Given the description of an element on the screen output the (x, y) to click on. 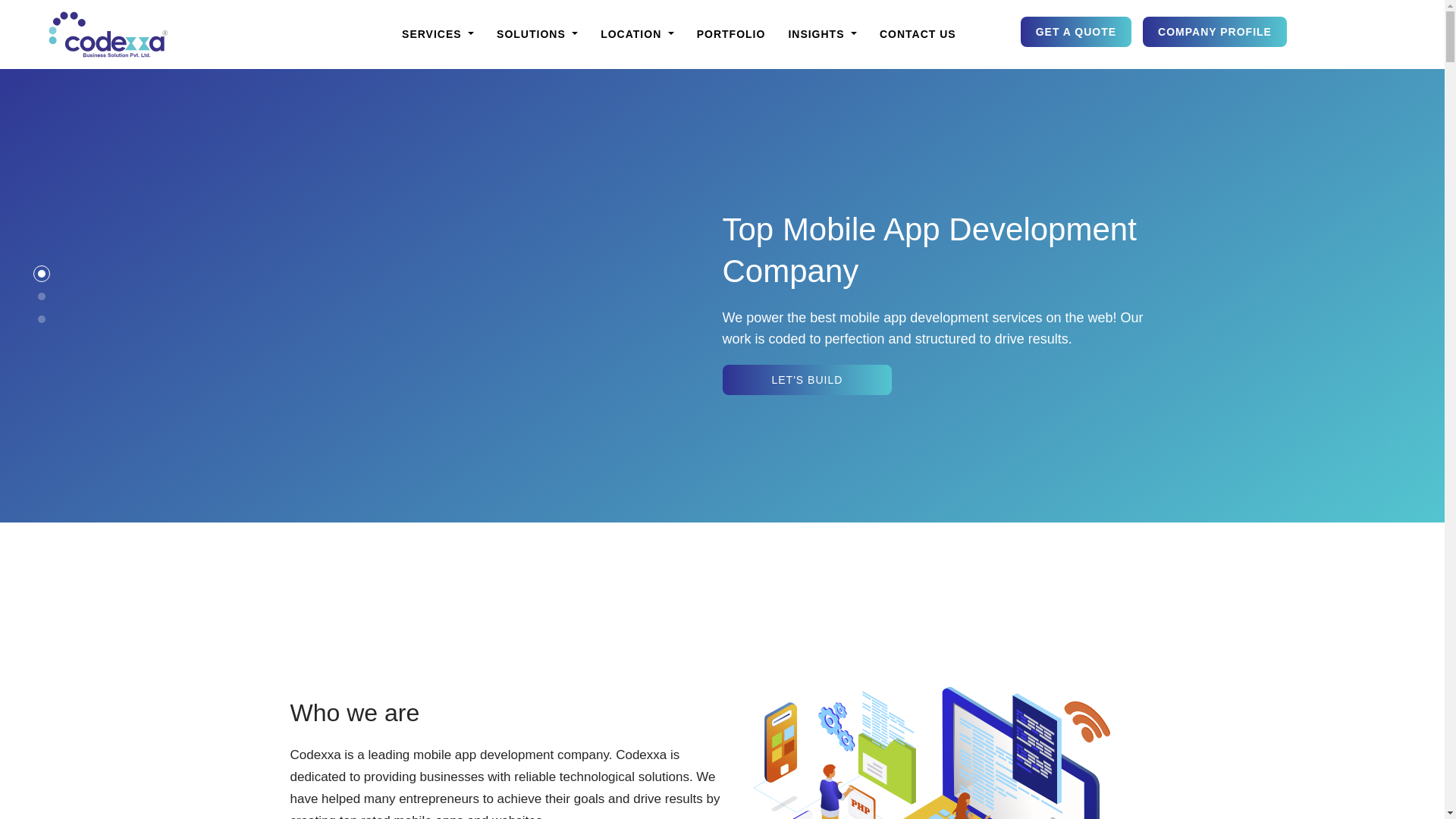
LOCATION (637, 34)
PORTFOLIO (731, 34)
SOLUTIONS (536, 34)
INSIGHTS (821, 34)
CONTACT US (917, 34)
SERVICES (437, 34)
